Given the description of an element on the screen output the (x, y) to click on. 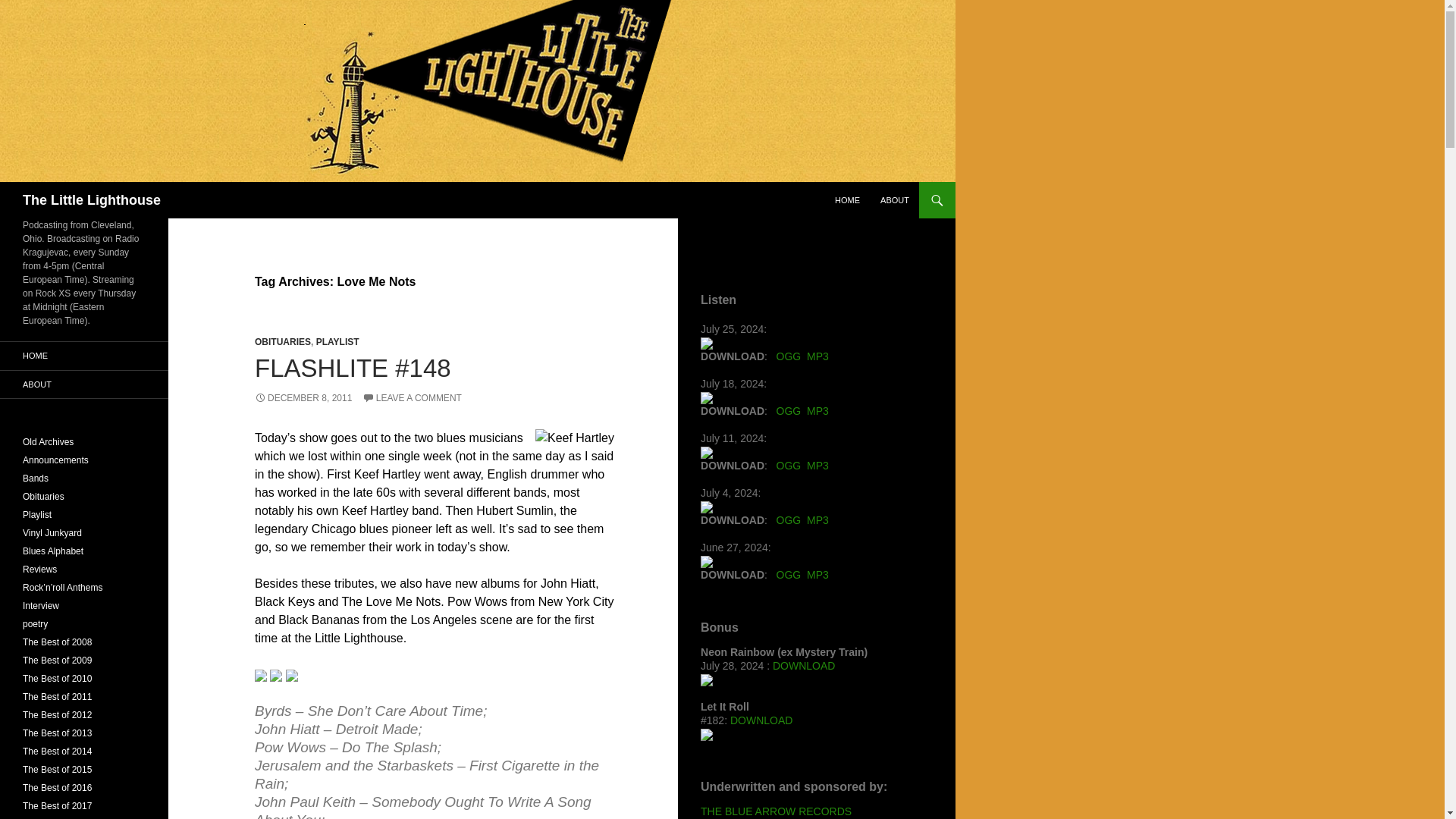
DECEMBER 8, 2011 (303, 398)
MP3 (817, 356)
LEAVE A COMMENT (411, 398)
PLAYLIST (337, 341)
OGG (789, 356)
OGG (789, 465)
ABOUT (894, 199)
HOME (847, 199)
MP3 (817, 410)
The Little Lighthouse (91, 199)
OBITUARIES (282, 341)
OGG (789, 410)
MP3 (817, 465)
